Given the description of an element on the screen output the (x, y) to click on. 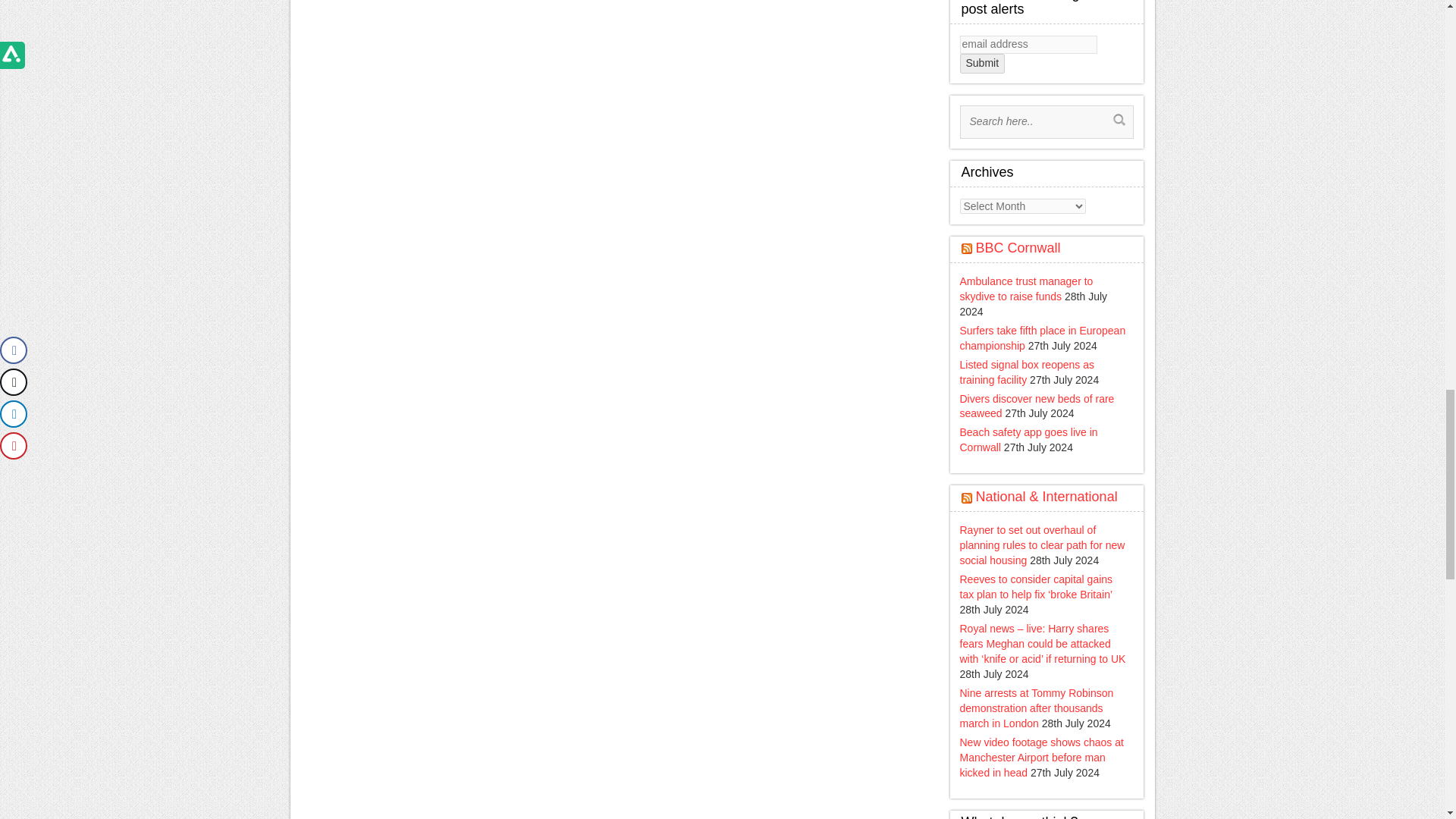
Search here.. (1038, 121)
Submit (982, 63)
